Given the description of an element on the screen output the (x, y) to click on. 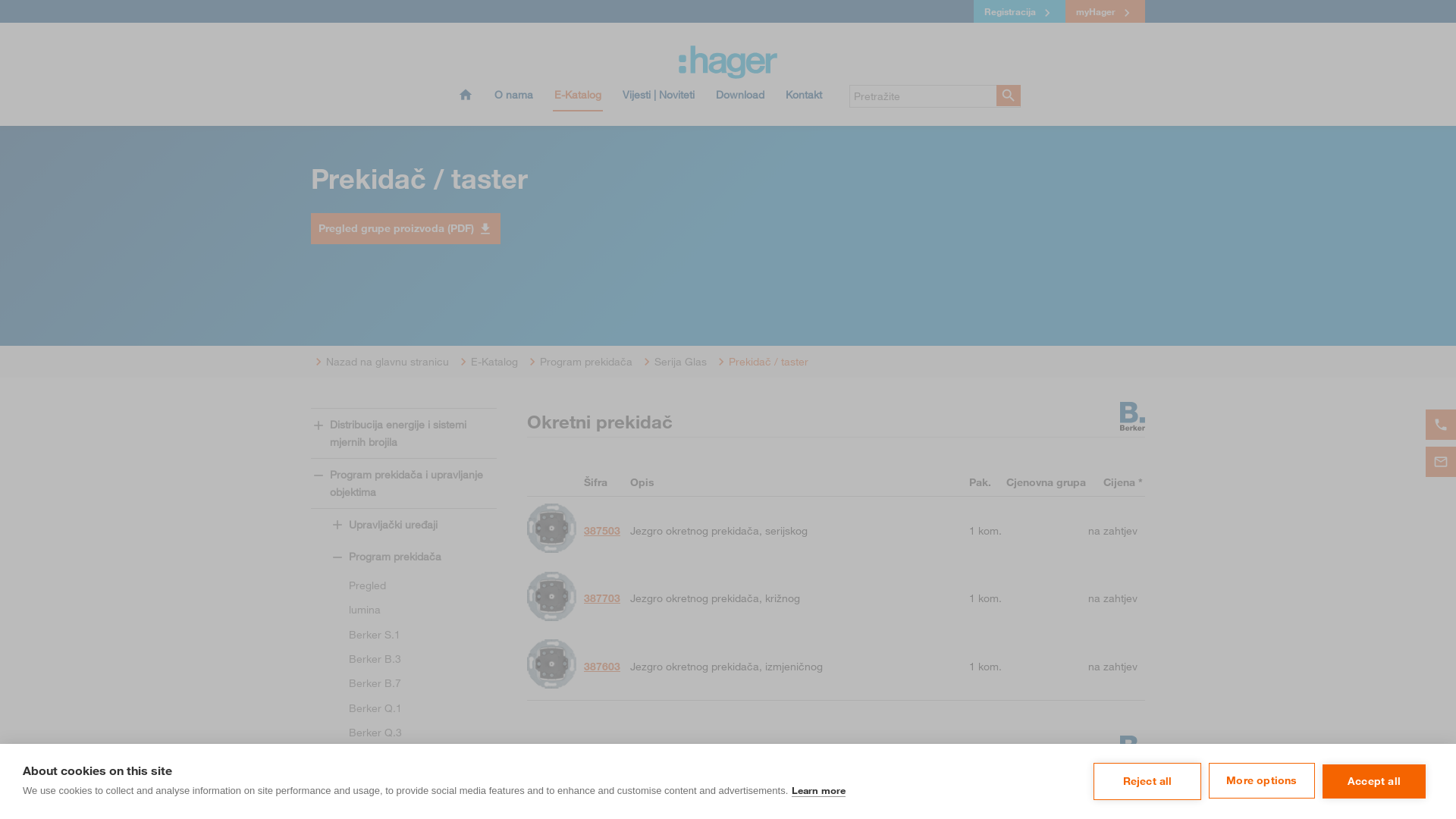
Nazad na glavnu stranicu Element type: text (379, 361)
Berker Q.3 Element type: text (403, 732)
387503 Element type: text (601, 530)
Berker R.1 Element type: text (403, 805)
Pregled Element type: text (403, 585)
387703 Element type: text (601, 598)
387703 Element type: hover (551, 598)
387603 Element type: text (601, 666)
Download Element type: text (739, 99)
O nama Element type: text (513, 99)
Berker K.5 Element type: text (403, 781)
387603 Element type: hover (551, 666)
Accept all Element type: text (1373, 781)
Vijesti | Noviteti Element type: text (658, 99)
More options Element type: text (1261, 780)
Berker S.1 Element type: text (403, 634)
Berker Q.1 Element type: text (403, 708)
E-Katalog Element type: text (577, 99)
Pregled grupe proizvoda (PDF) Element type: text (405, 228)
Berker B.3 Element type: text (403, 658)
387503 Element type: hover (551, 530)
https://www.hager.ba/ Element type: hover (727, 61)
Registracija Element type: text (1019, 11)
Berker K.1 Element type: text (403, 756)
myHager Element type: text (1105, 11)
Serija Glas Element type: text (672, 361)
Distribucija energije i sistemi mjernih brojila Element type: text (403, 433)
lumina Element type: text (403, 609)
Berker B.7 Element type: text (403, 683)
Learn more Element type: text (818, 790)
Reject all Element type: text (1147, 781)
Kontakt Element type: text (803, 99)
E-Katalog Element type: text (486, 361)
